Given the description of an element on the screen output the (x, y) to click on. 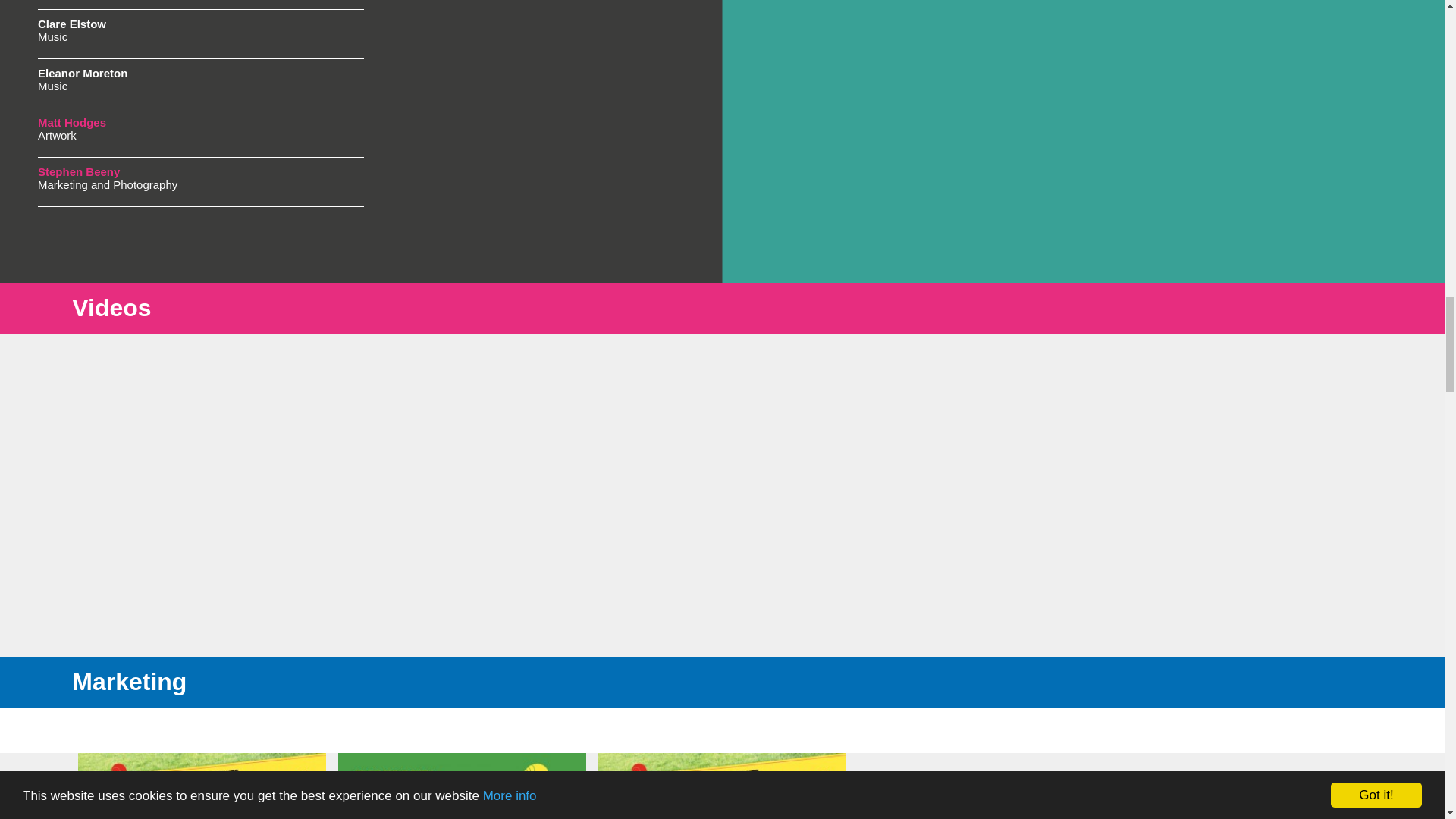
John Hegley: All Hail the Snail - Me Poem (113, 552)
John Hegley: All Hail the Snail trailer (113, 390)
